Given the description of an element on the screen output the (x, y) to click on. 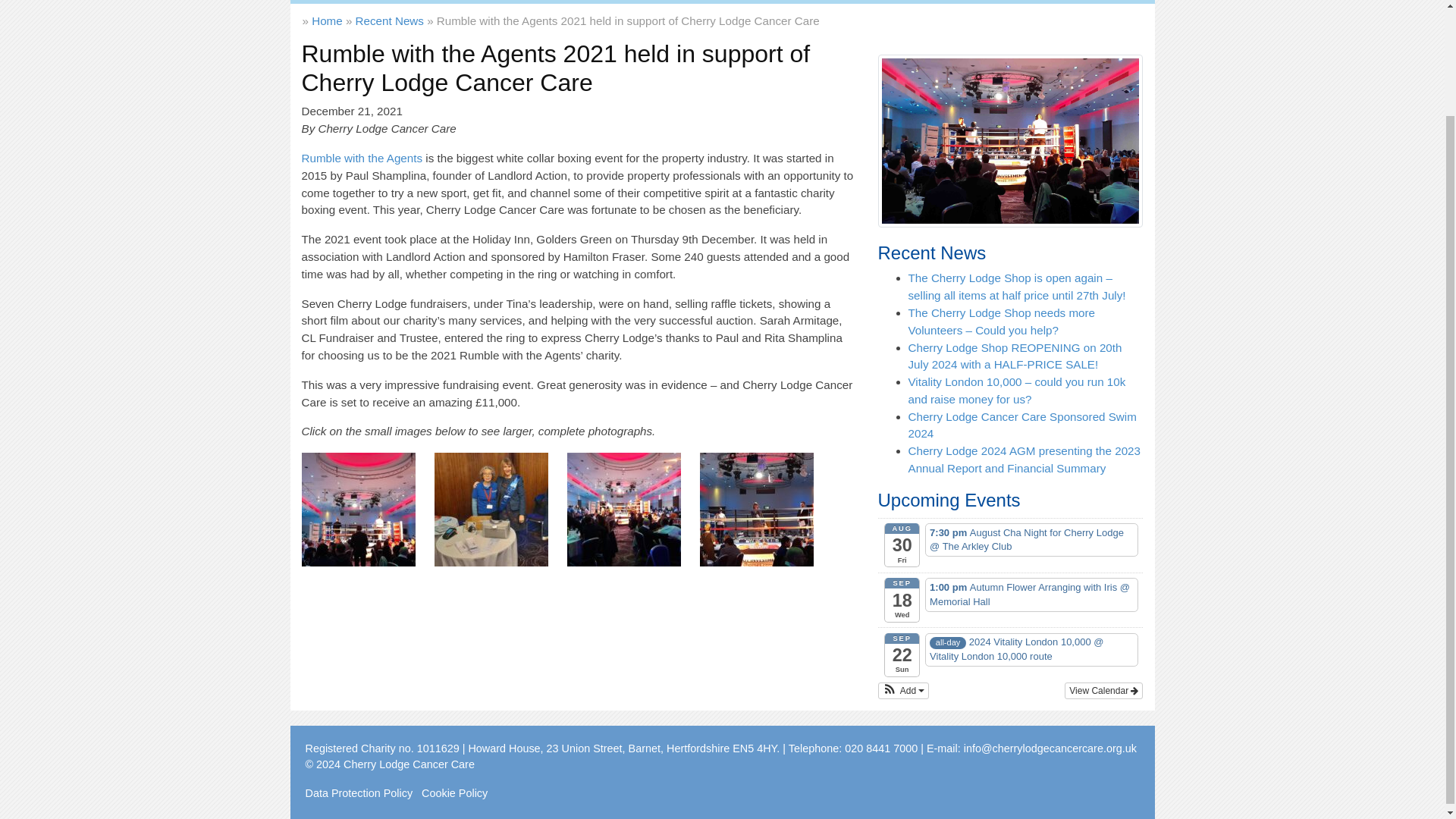
About Us (379, 2)
Fundraising (612, 2)
Our Services and Activities (492, 2)
Our Services and Activities (492, 2)
Home (323, 2)
About Us (379, 2)
Home (323, 2)
